Given the description of an element on the screen output the (x, y) to click on. 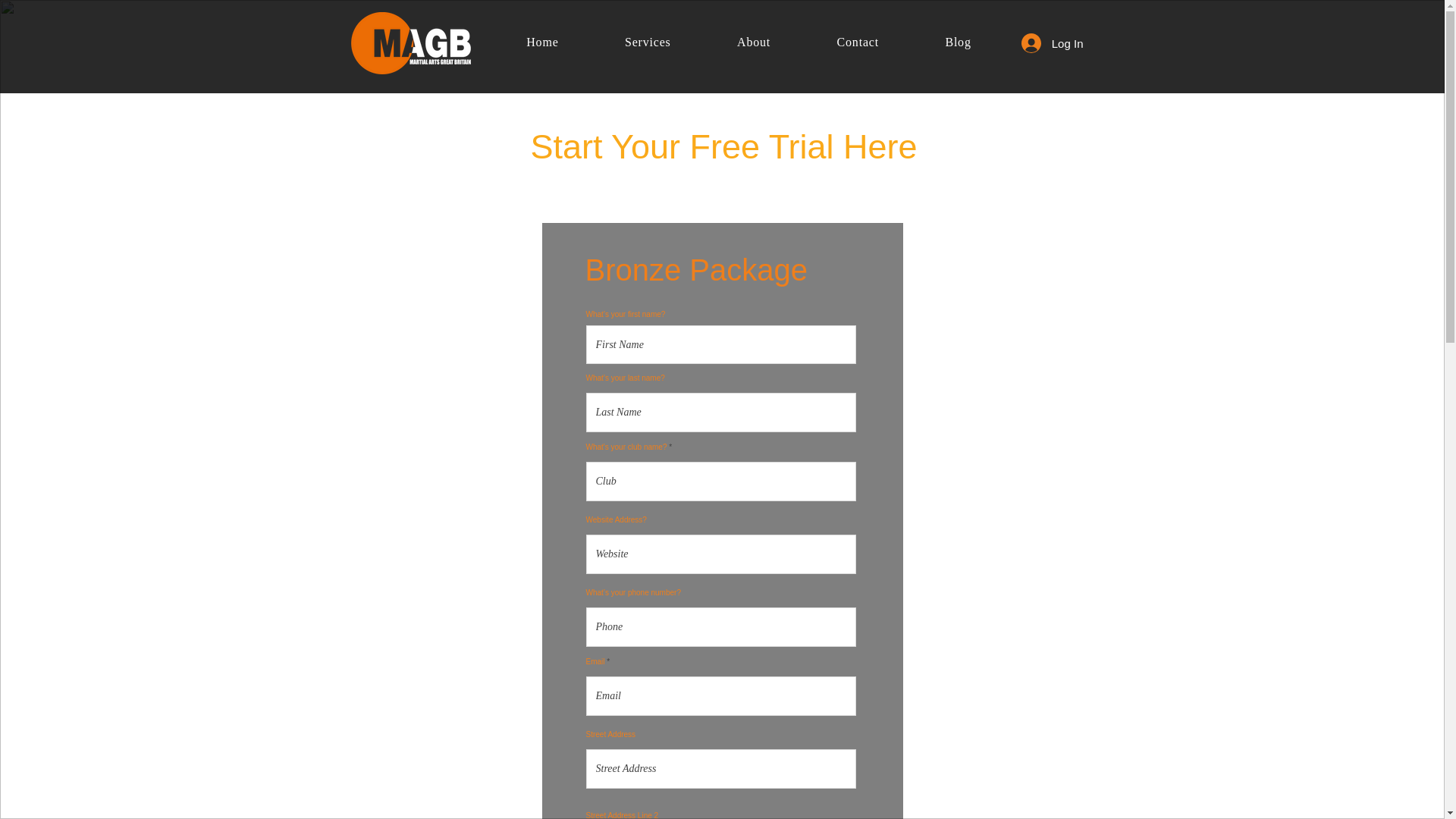
Contact (857, 41)
About (752, 41)
Home (542, 41)
Blog (958, 41)
Log In (1052, 42)
